Given the description of an element on the screen output the (x, y) to click on. 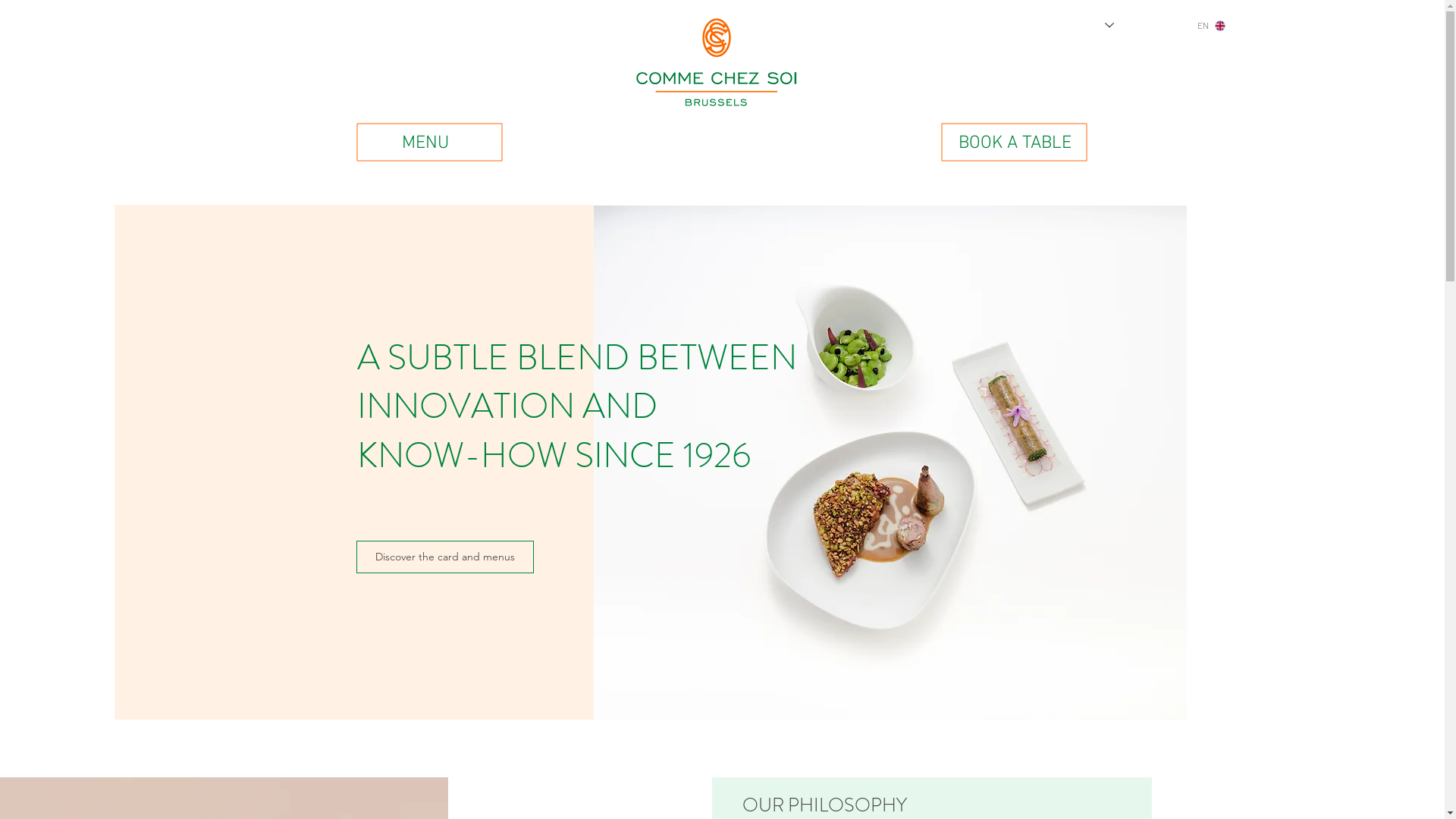
Discover the card and menus Element type: text (444, 556)
BOOK A TABLE Element type: text (1014, 141)
